Given the description of an element on the screen output the (x, y) to click on. 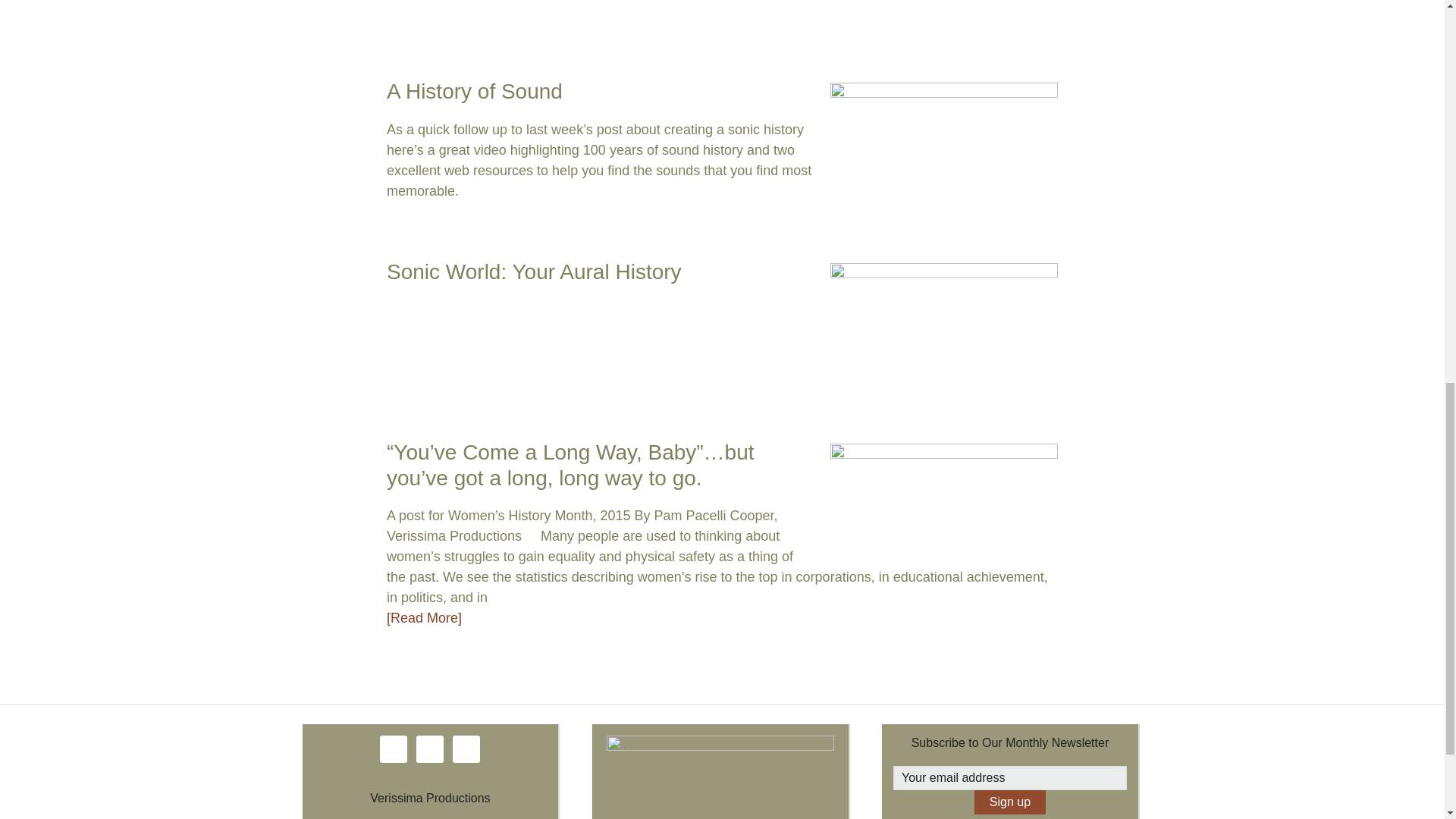
Sonic World: Your Aural History (534, 271)
A History of Sound (474, 91)
Sign up (1009, 802)
